Given the description of an element on the screen output the (x, y) to click on. 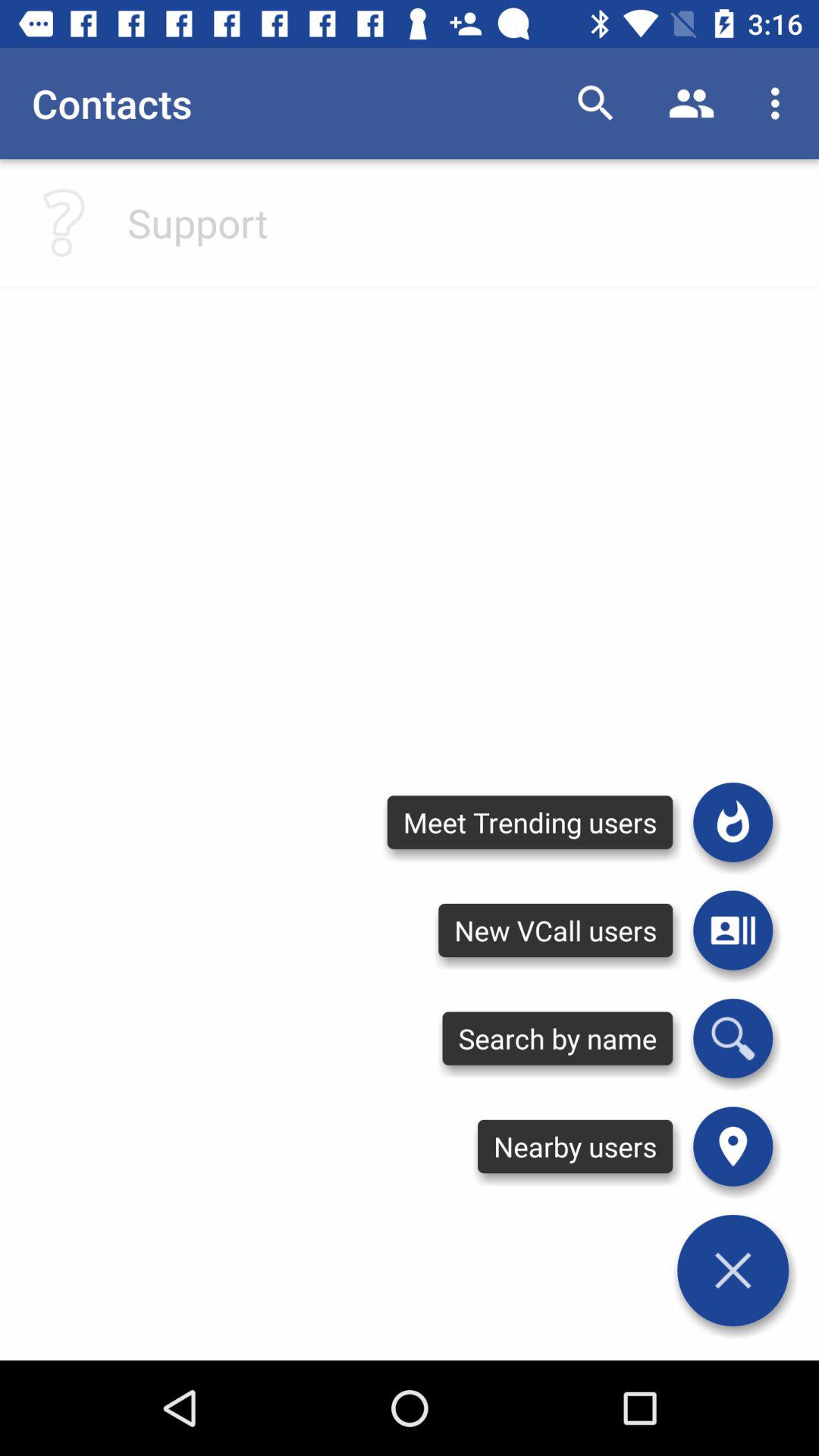
a question mark which you could press to get some in app help (63, 222)
